Given the description of an element on the screen output the (x, y) to click on. 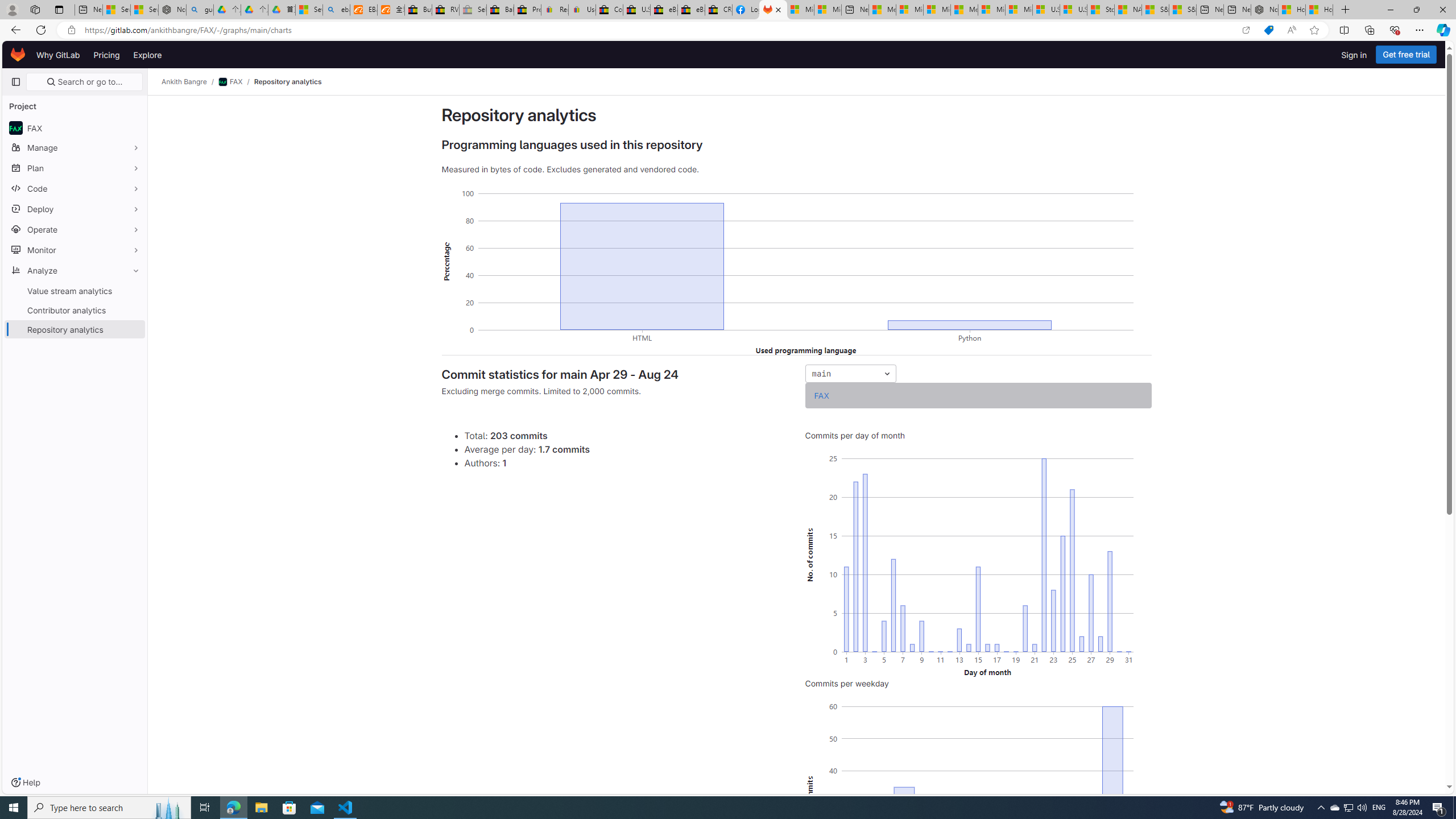
Repository analytics (287, 81)
Operate (74, 229)
Microsoft account | Home (936, 9)
Code (74, 188)
Sign in (1353, 54)
Manage (74, 147)
Monitor (74, 249)
Average per day: 1.7 commits (625, 449)
Operate (74, 229)
eBay Inc. Reports Third Quarter 2023 Results (691, 9)
Deploy (74, 208)
